Given the description of an element on the screen output the (x, y) to click on. 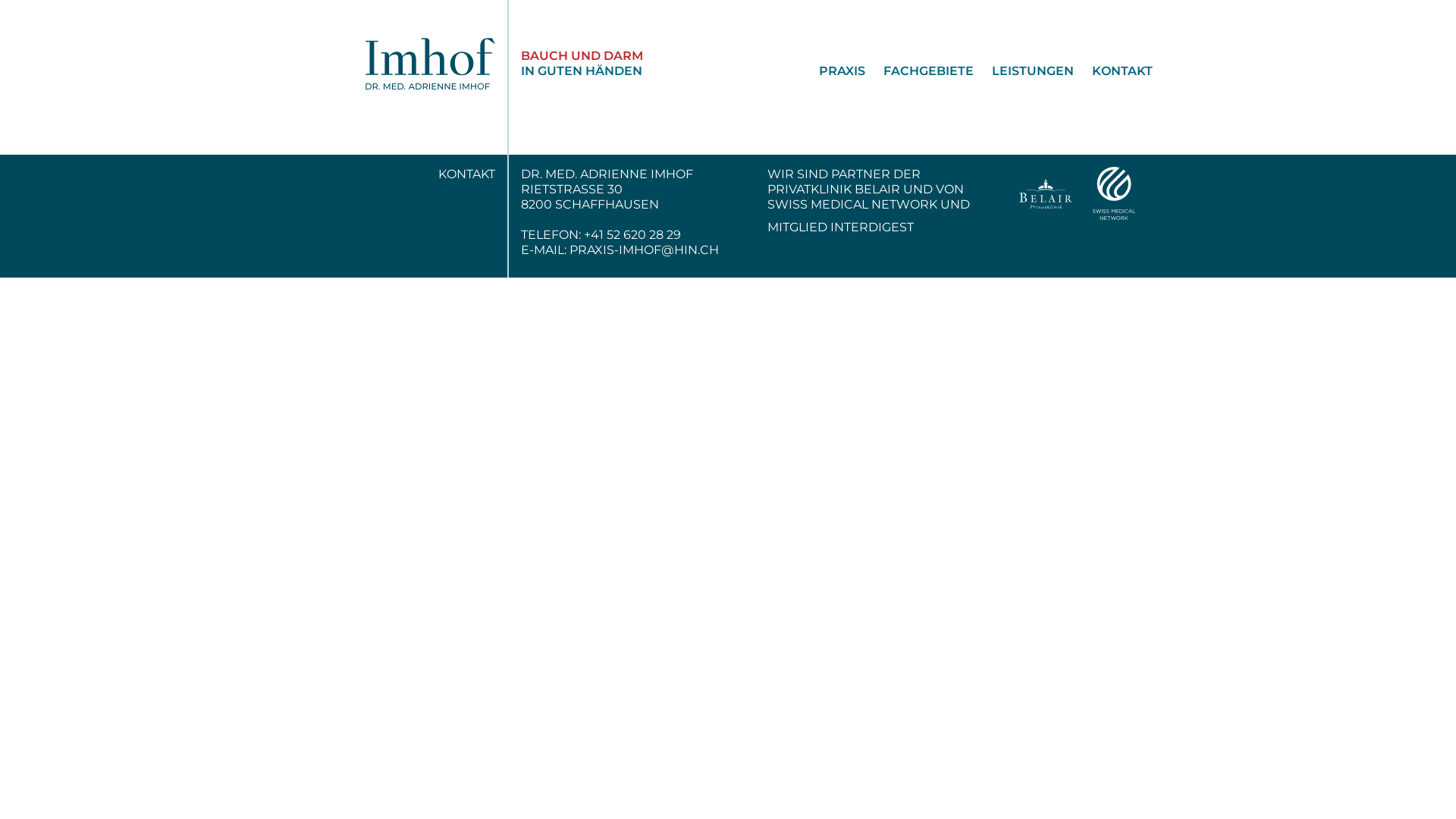
LEISTUNGEN Element type: text (1023, 71)
KONTAKT Element type: text (1112, 71)
PRAXIS-IMHOF@HIN.CH Element type: text (643, 249)
PRAXIS Element type: text (832, 71)
FACHGEBIETE Element type: text (918, 71)
